Given the description of an element on the screen output the (x, y) to click on. 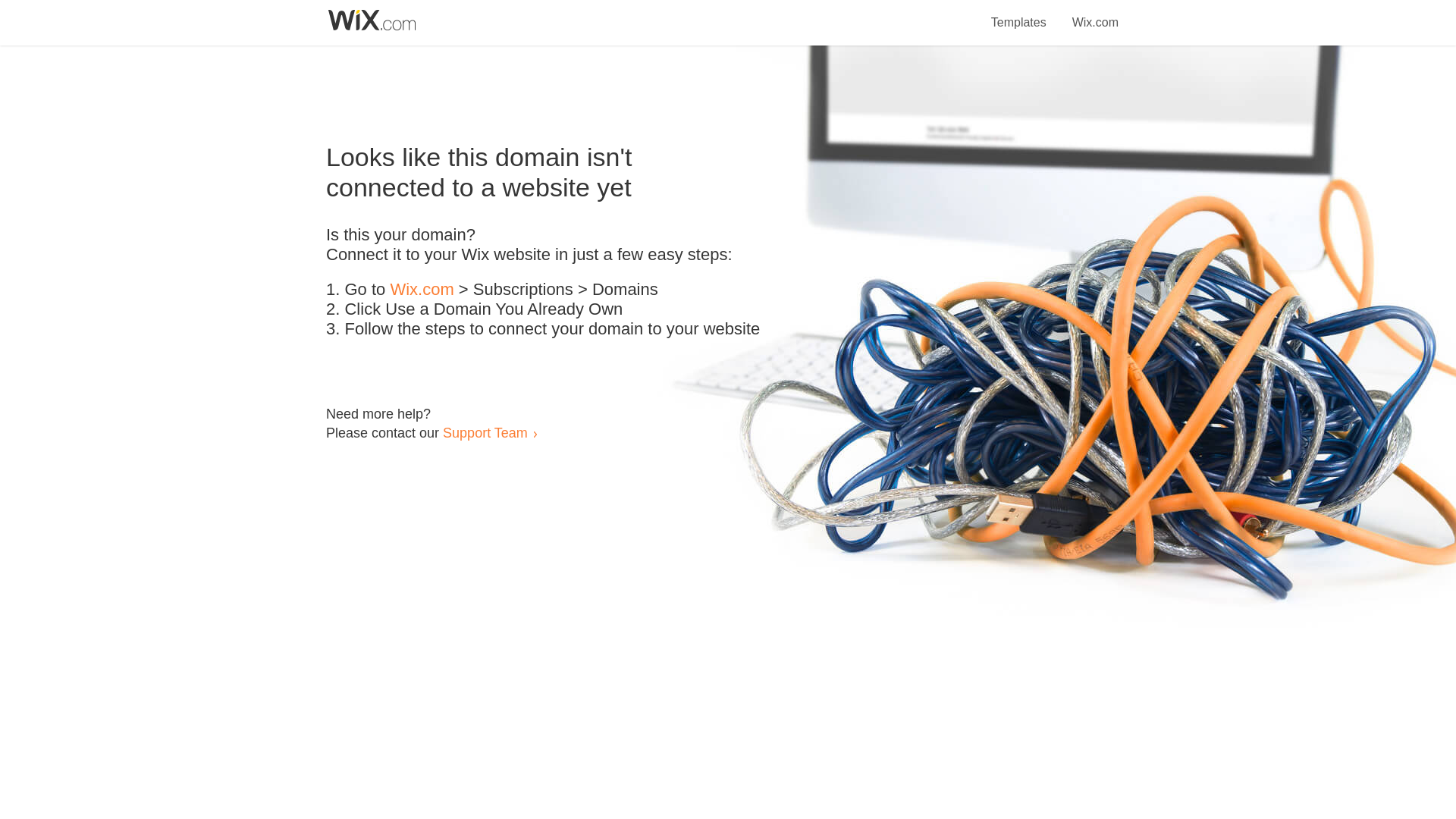
Wix.com (421, 289)
Wix.com (1095, 14)
Support Team (484, 432)
Templates (1018, 14)
